Given the description of an element on the screen output the (x, y) to click on. 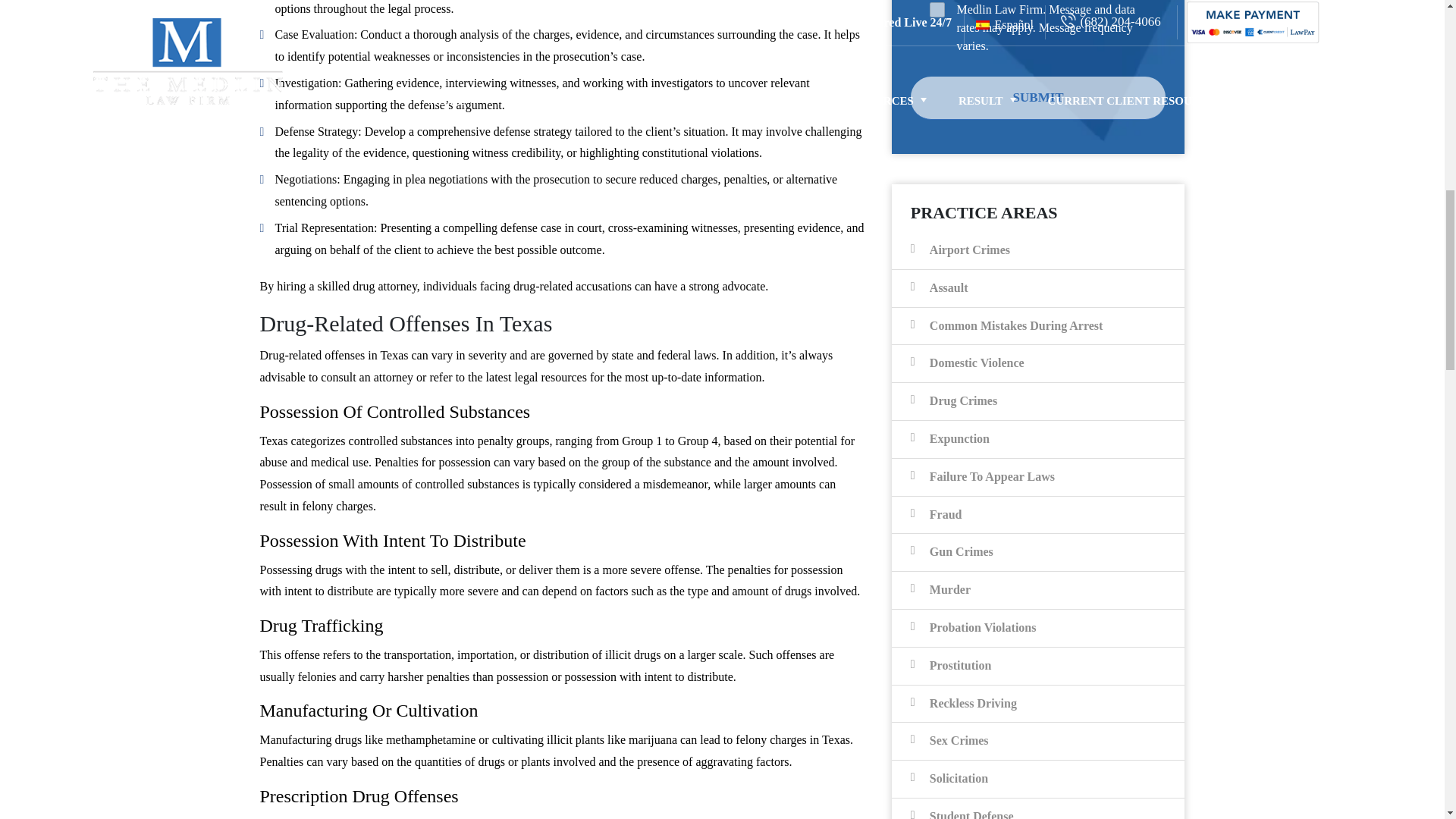
1 (937, 9)
Submit (1038, 97)
